Given the description of an element on the screen output the (x, y) to click on. 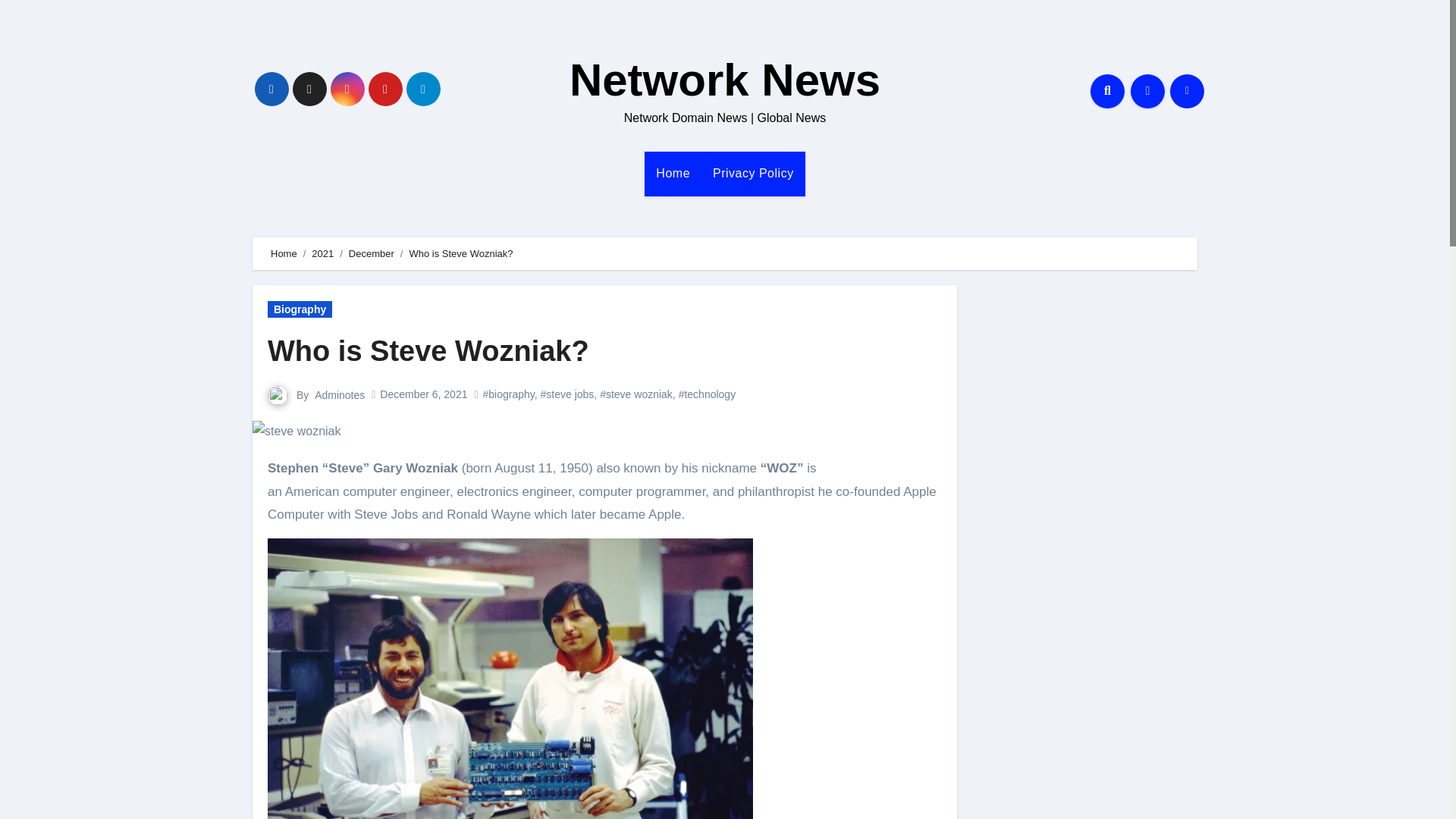
Biography (299, 309)
December 6, 2021 (423, 394)
Home (673, 173)
Home (673, 173)
Permalink to: Who is Steve Wozniak? (428, 350)
Who is Steve Wozniak? (428, 350)
Network News (724, 79)
December (371, 253)
2021 (322, 253)
Privacy Policy (753, 173)
